Given the description of an element on the screen output the (x, y) to click on. 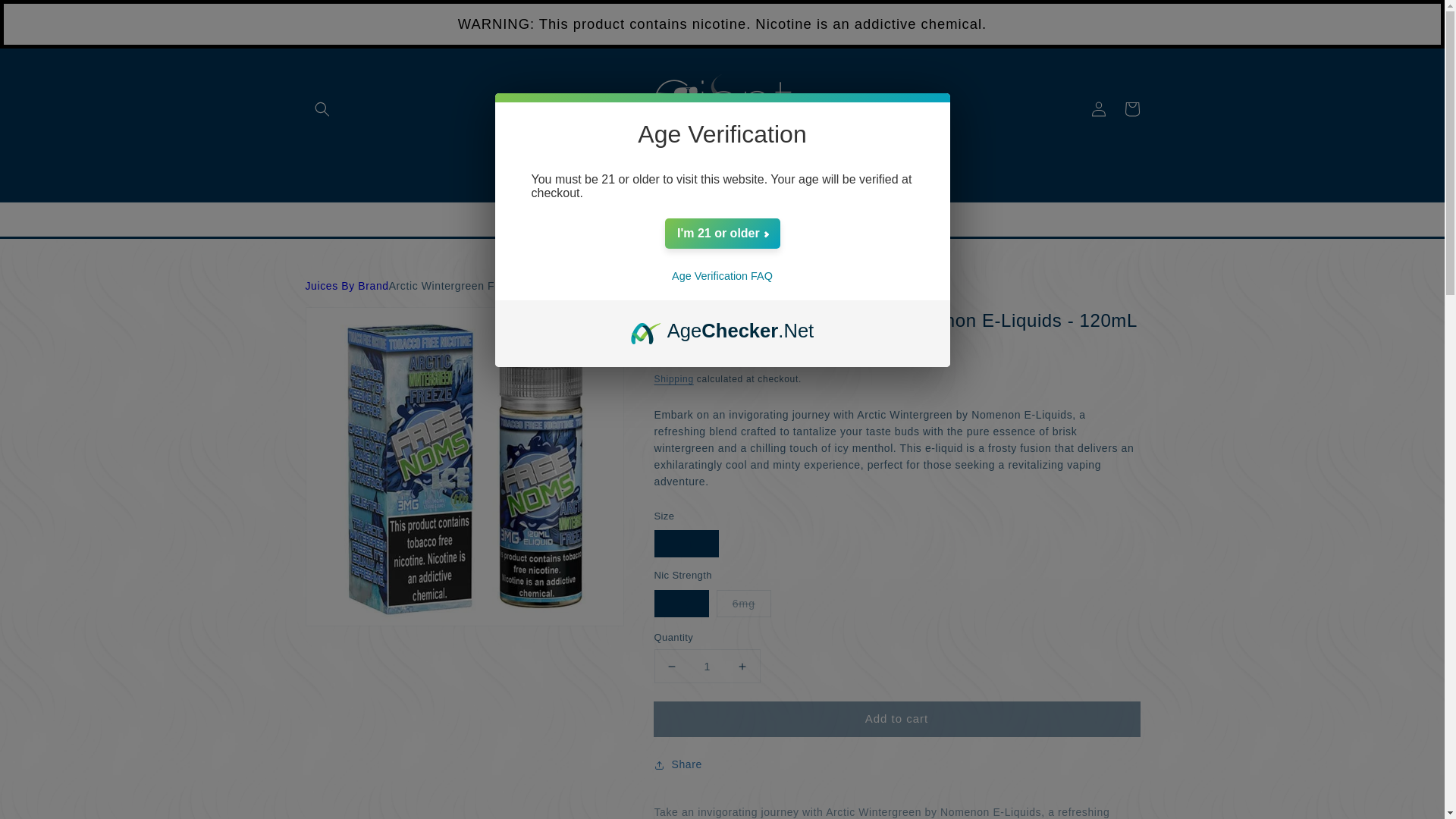
Skip to content (45, 16)
Juices By Brand (346, 285)
Arctic Wintergreen Freeze - Nomenon E-Liquids - 120mL (534, 285)
1 (706, 666)
